Given the description of an element on the screen output the (x, y) to click on. 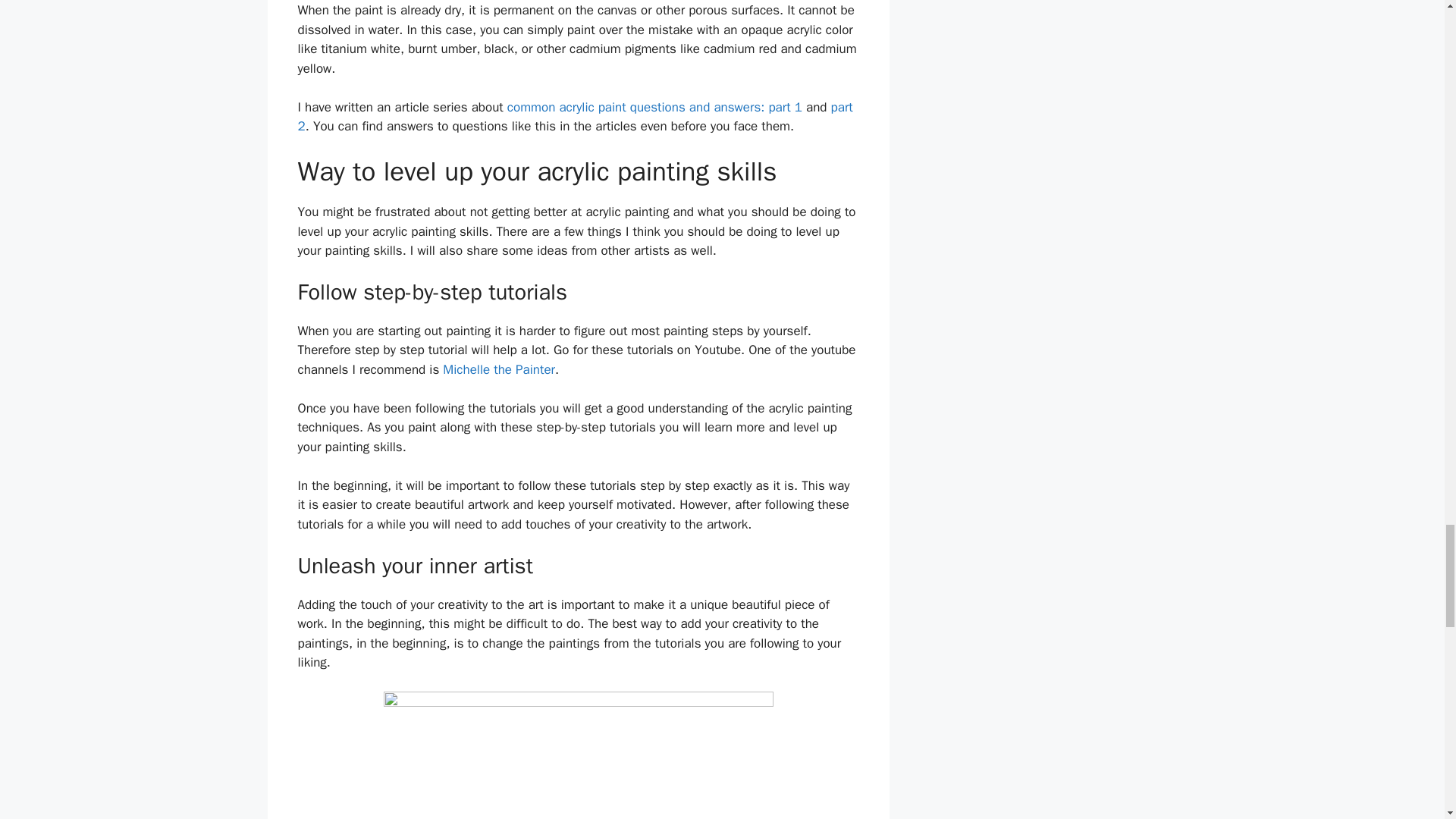
common acrylic paint questions and answers: part 1 (654, 107)
Michelle the Painter (498, 369)
part 2 (574, 117)
